Given the description of an element on the screen output the (x, y) to click on. 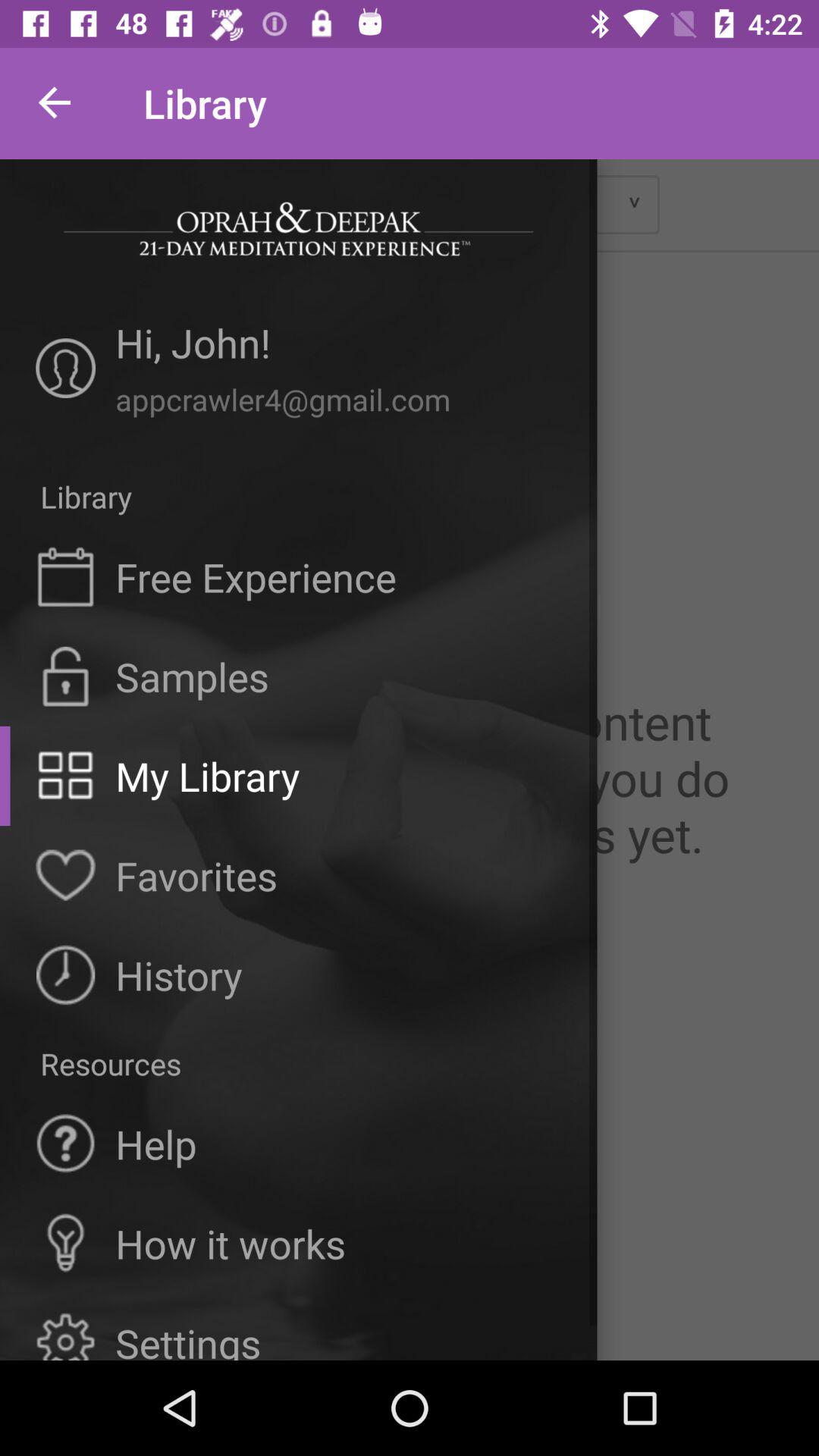
tap the icon above the appcrawler4@gmail.com item (338, 347)
